Given the description of an element on the screen output the (x, y) to click on. 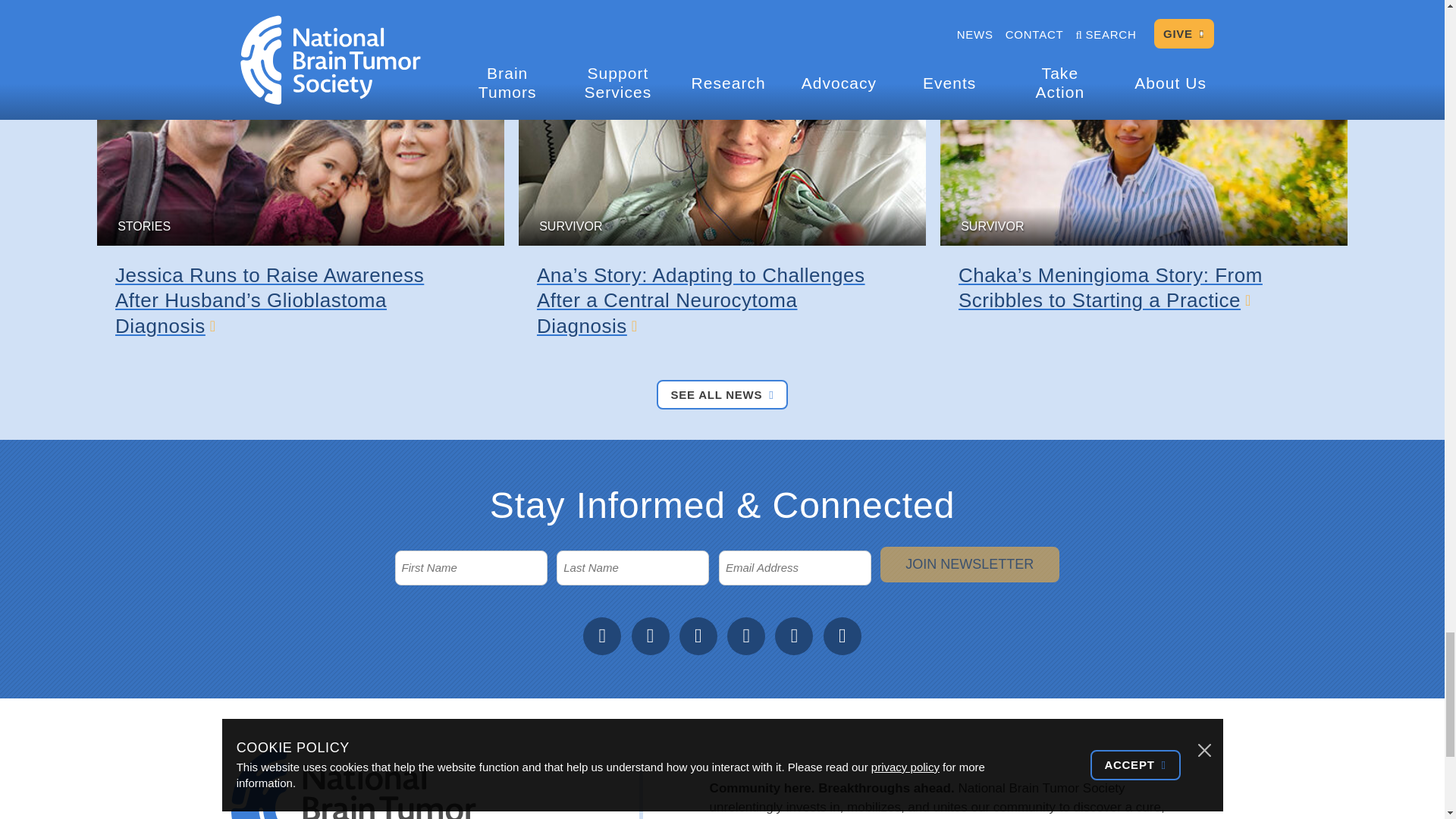
JOIN NEWSLETTER (969, 564)
